Given the description of an element on the screen output the (x, y) to click on. 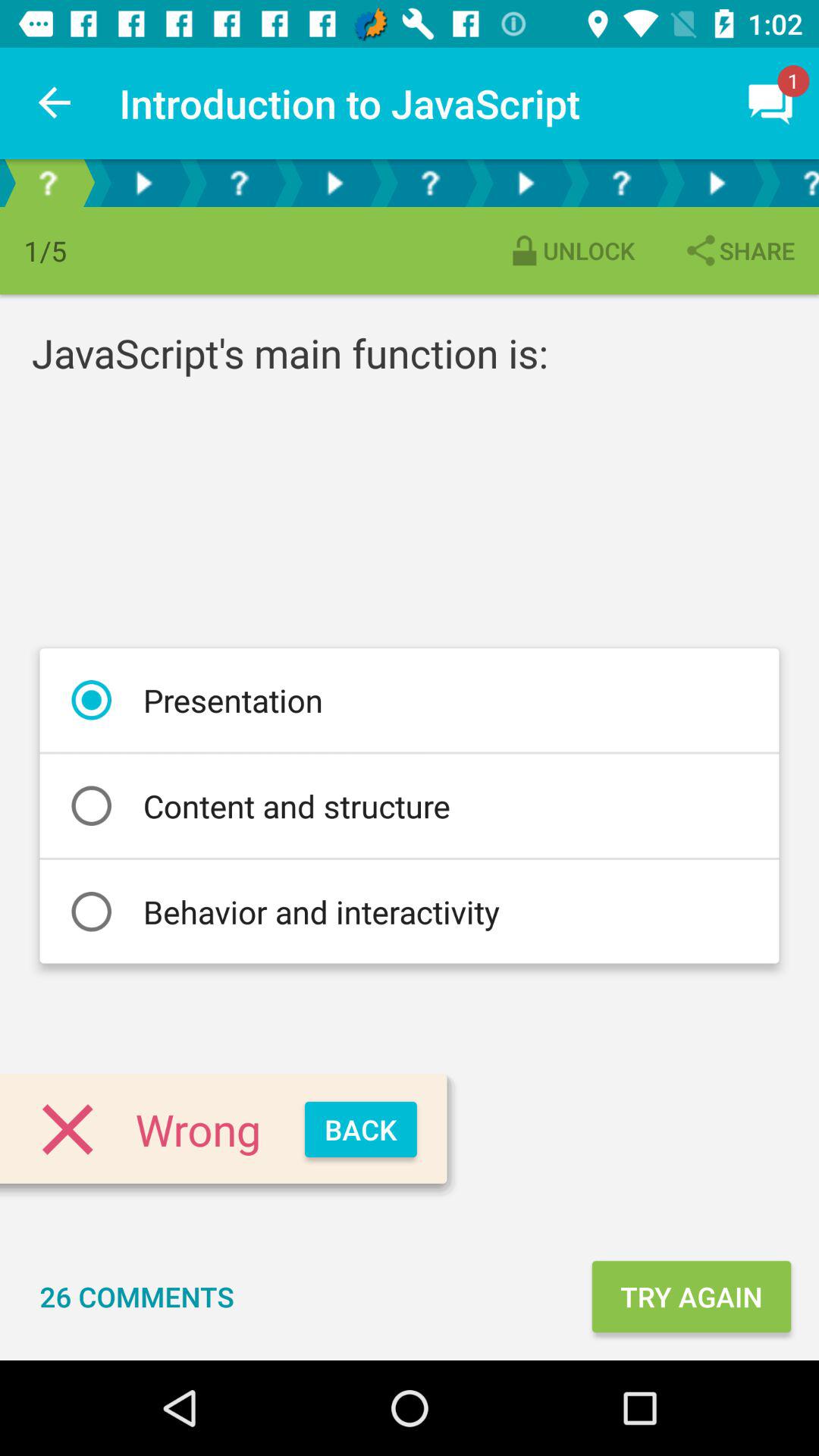
click the icon to the right of the 26 comments (691, 1296)
